Given the description of an element on the screen output the (x, y) to click on. 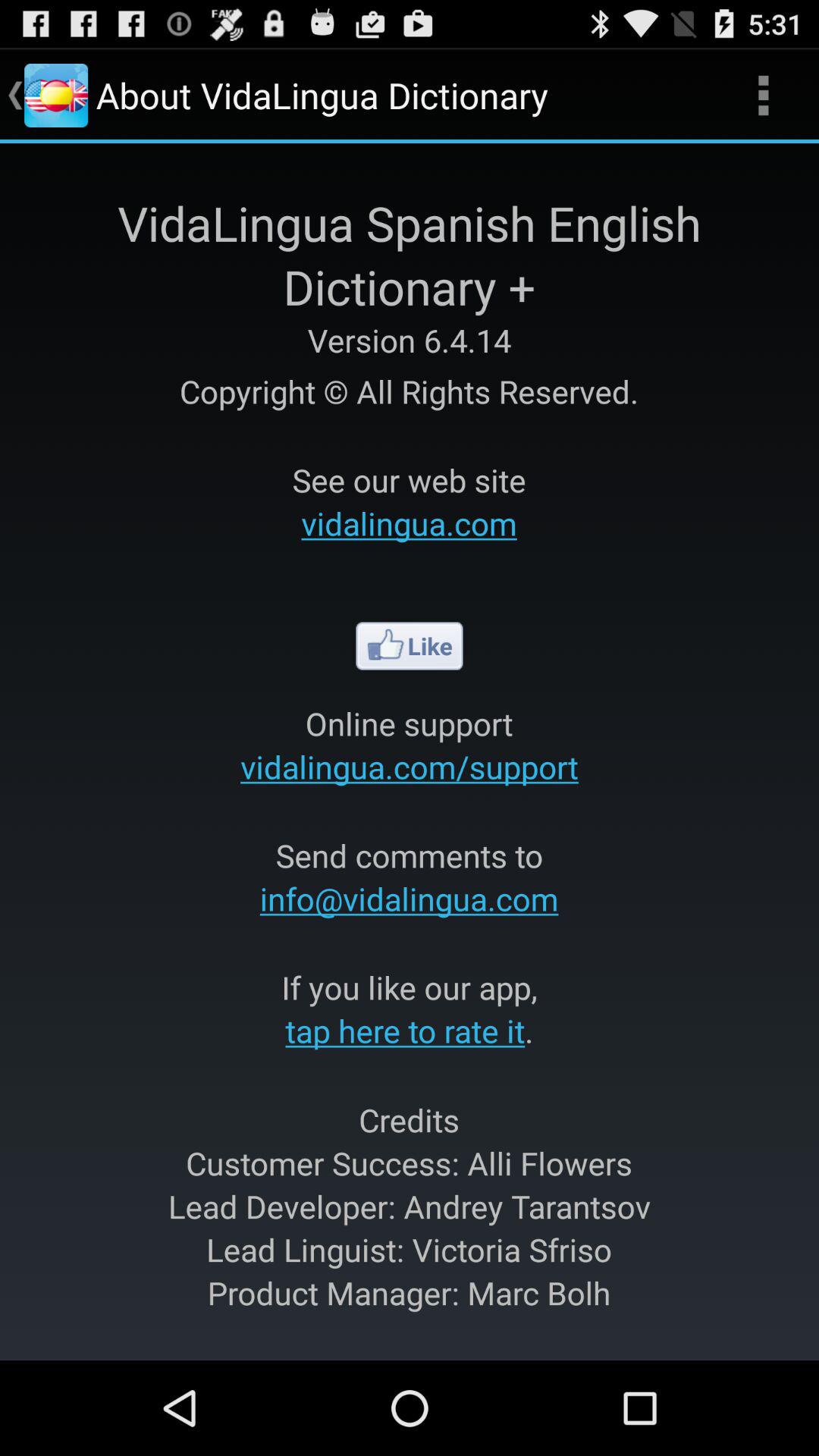
launch icon next to about vidalingua dictionary (763, 95)
